Given the description of an element on the screen output the (x, y) to click on. 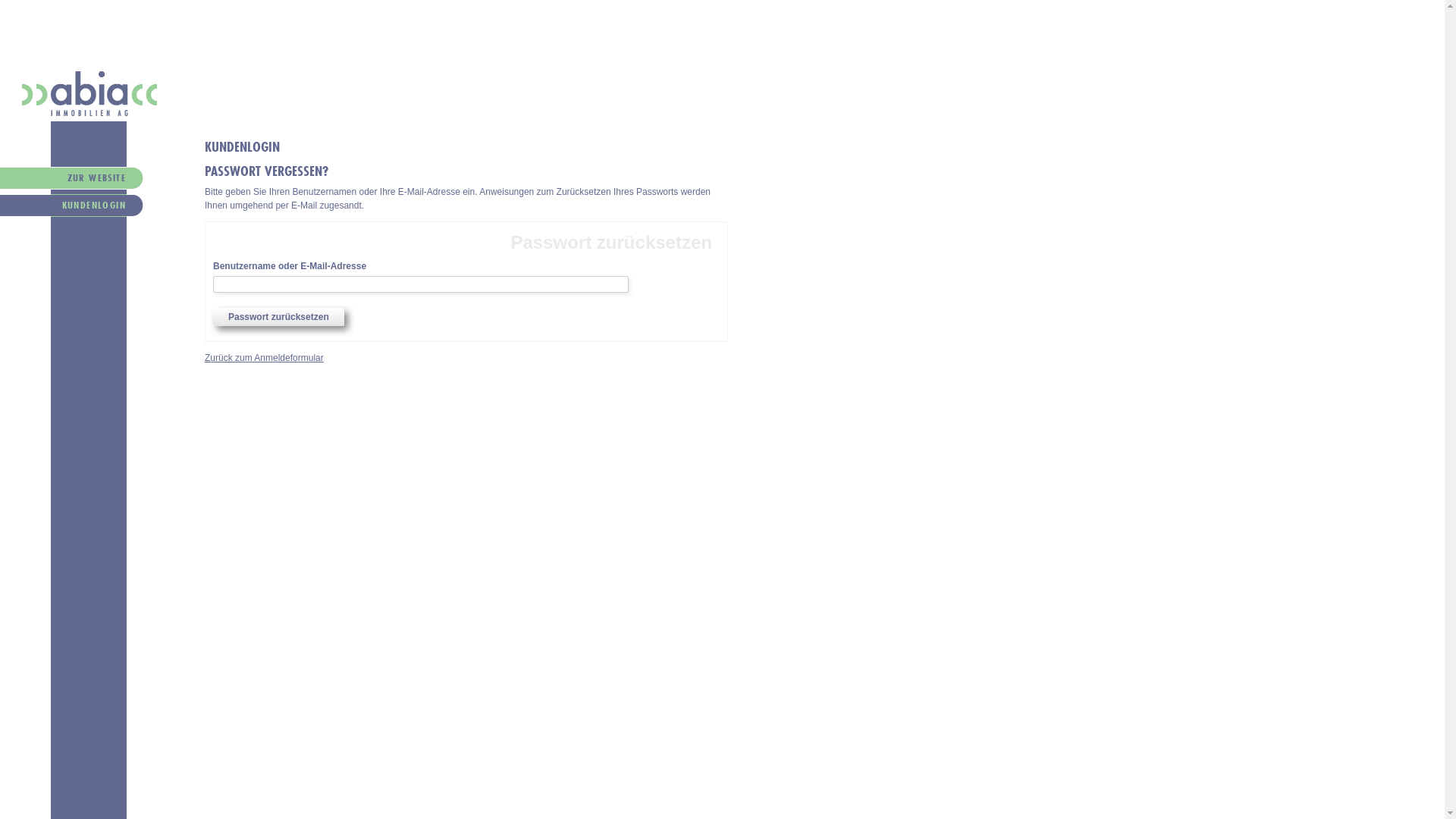
ZUR WEBSITE Element type: text (62, 180)
KUNDENLOGIN Element type: text (62, 207)
